Given the description of an element on the screen output the (x, y) to click on. 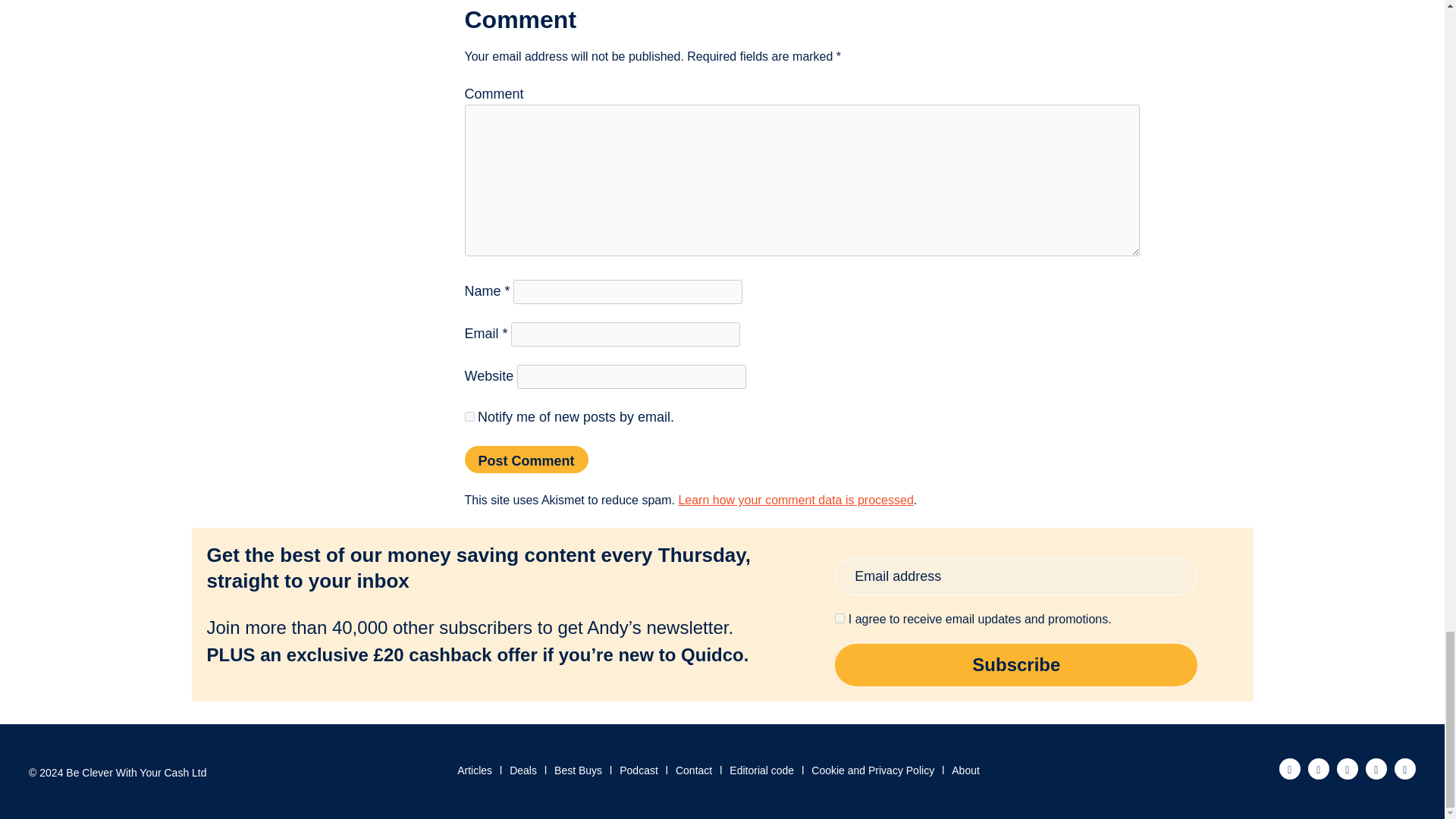
subscribe (469, 416)
Post Comment (526, 459)
on (839, 618)
Subscribe (1015, 664)
